Given the description of an element on the screen output the (x, y) to click on. 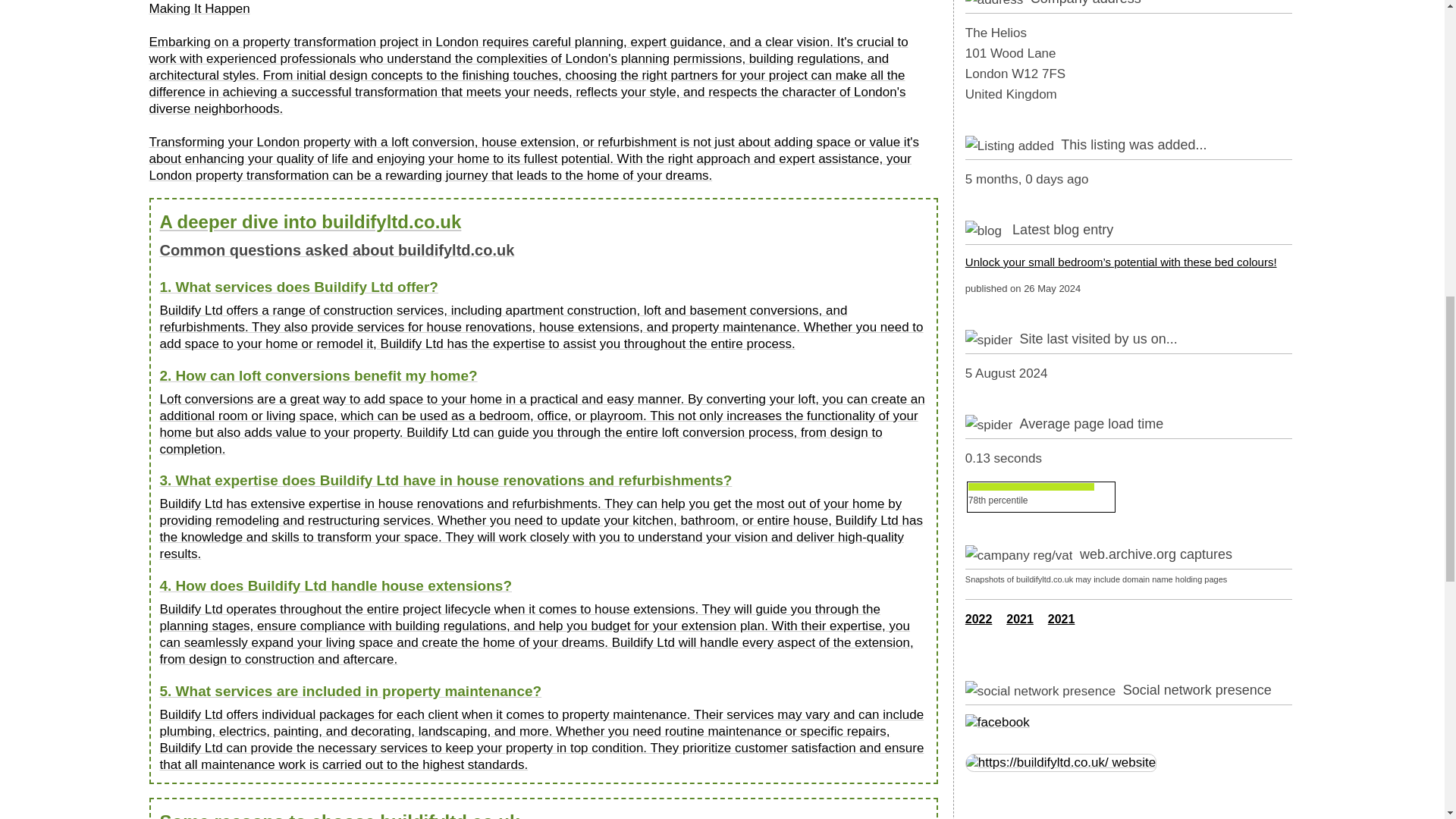
2022 (978, 618)
2021 (1061, 618)
2021 (1019, 618)
